Given the description of an element on the screen output the (x, y) to click on. 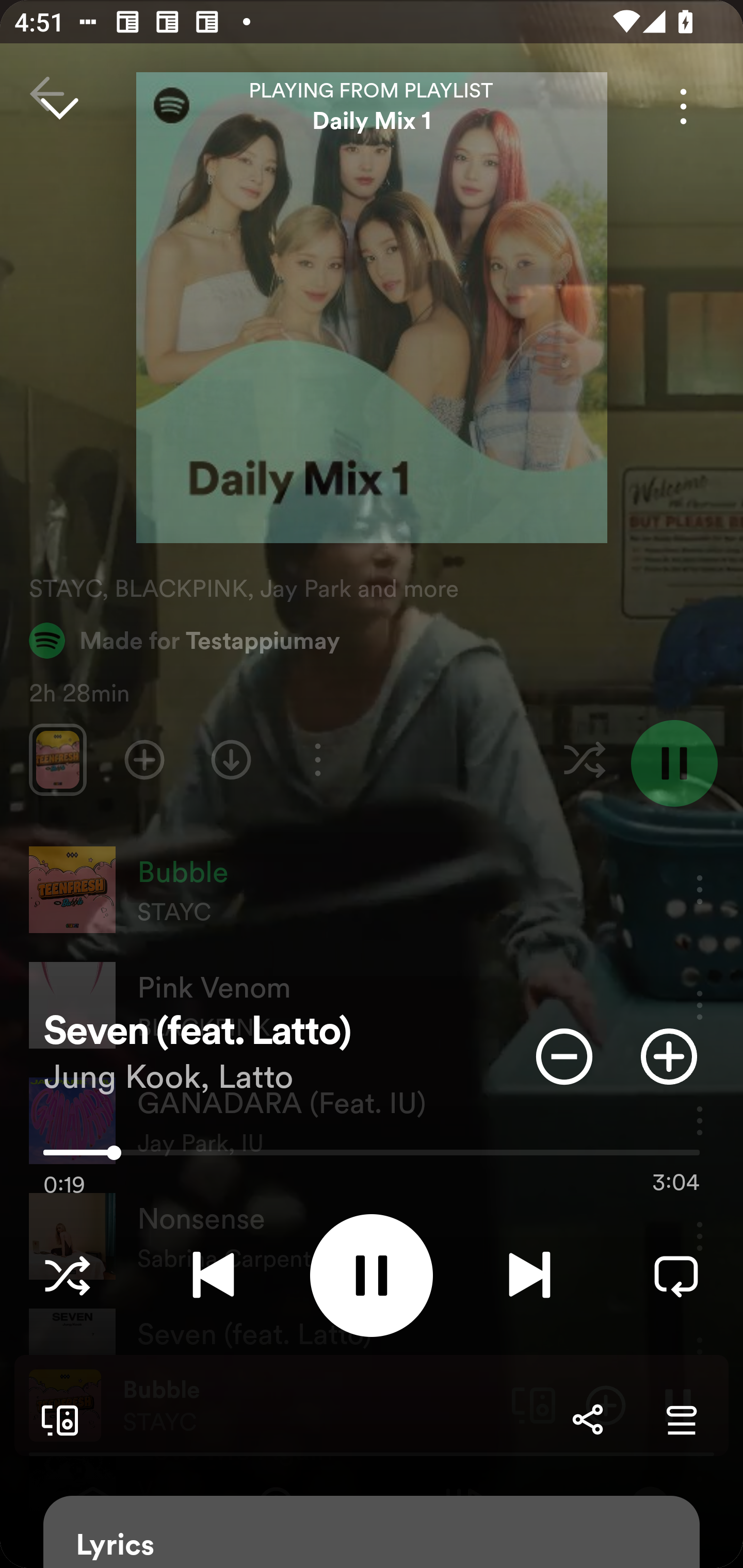
Close (59, 106)
More options for song Seven (feat. Latto) (683, 106)
PLAYING FROM PLAYLIST Daily Mix 1 (371, 106)
Don't play this (564, 1056)
Add item (669, 1056)
0:19 3:04 19650.0 Use volume keys to adjust (371, 1157)
Pause (371, 1275)
Previous (212, 1275)
Next (529, 1275)
Shuffle tracks (66, 1275)
Repeat (676, 1275)
Share (587, 1419)
Go to Queue (681, 1419)
Connect to a device. Opens the devices menu (55, 1419)
Lyrics (371, 1531)
